Given the description of an element on the screen output the (x, y) to click on. 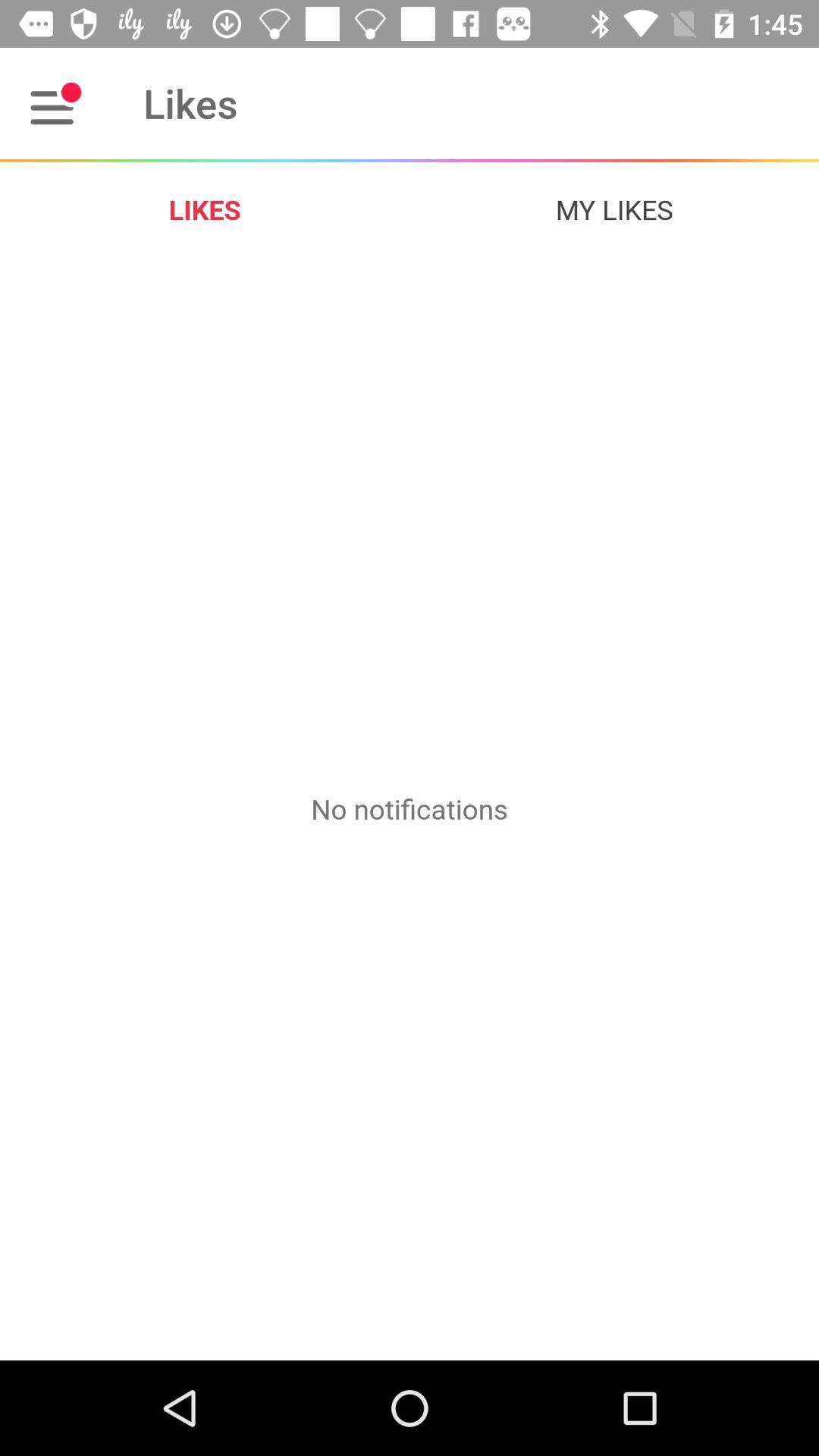
press icon to the left of likes item (55, 103)
